Given the description of an element on the screen output the (x, y) to click on. 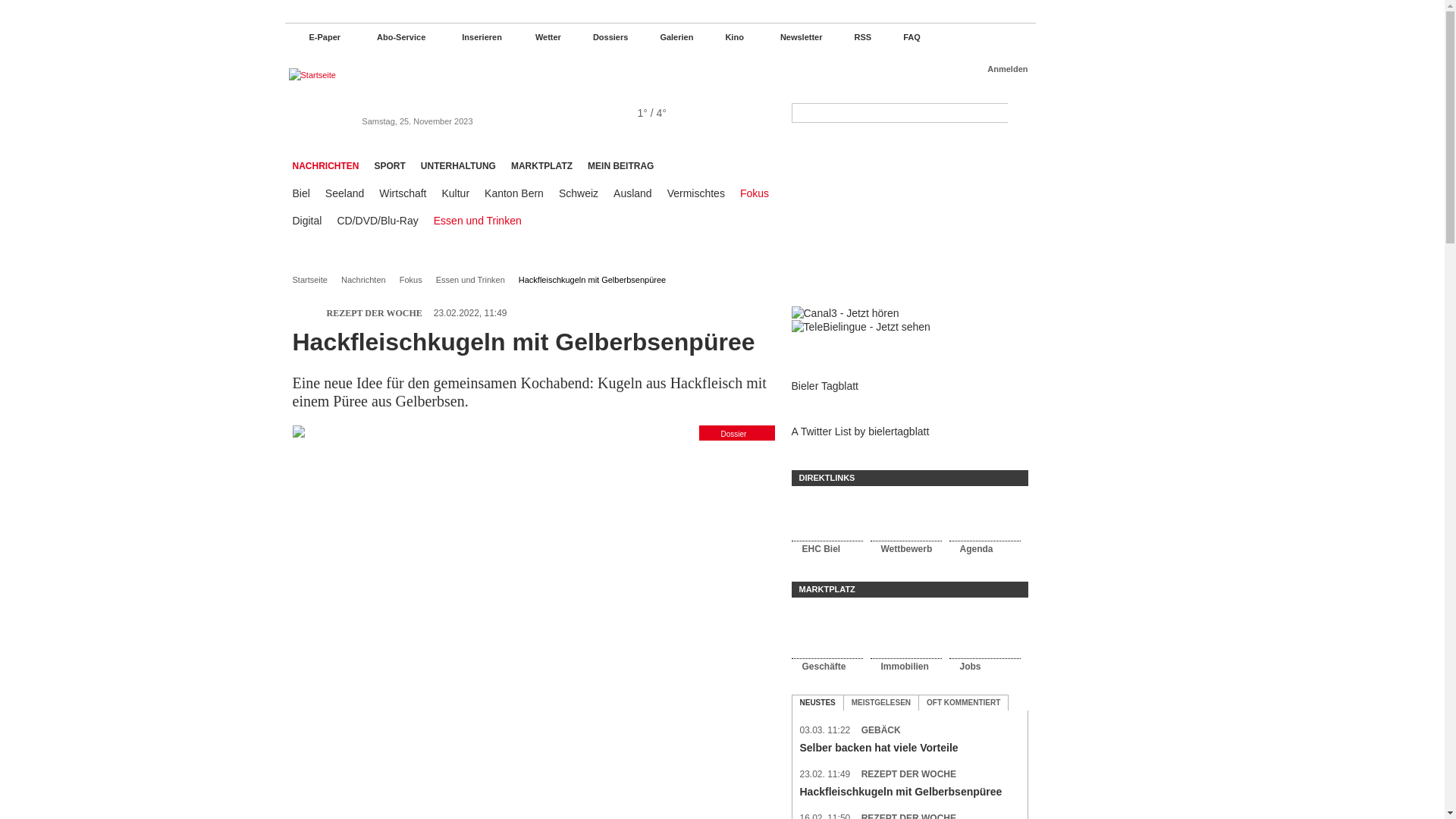
Dossiers Element type: text (601, 36)
Kanton Bern Element type: text (513, 193)
Immobilien Element type: text (905, 640)
Galerien Element type: text (668, 36)
Bieler Tagblatt Element type: text (824, 385)
CD/DVD/Blu-Ray Element type: text (376, 220)
SPORT Element type: text (389, 161)
Vermischtes Element type: text (695, 193)
Wirtschaft Element type: text (402, 193)
Inserieren Element type: text (471, 36)
Nachrichten Element type: text (368, 279)
Newsletter Element type: text (790, 36)
Seeland Element type: text (344, 193)
Startseite Element type: text (314, 279)
Ausland Element type: text (632, 193)
Essen und Trinken Element type: text (475, 279)
EHC Biel Element type: text (826, 524)
Direkt zum Inhalt Element type: text (43, 0)
NEUSTES Element type: text (816, 702)
Fokus Element type: text (415, 279)
Drucken Element type: text (745, 311)
MEISTGELESEN Element type: text (881, 702)
Kultur Element type: text (455, 193)
TeleBielingue - Jetzt sehen Element type: hover (860, 326)
Abo-Service Element type: text (390, 36)
RSS Element type: text (854, 36)
Suche Element type: text (1017, 112)
Biel Element type: text (301, 193)
Essen und Trinken Element type: text (477, 220)
E-Paper Element type: text (316, 36)
OFT KOMMENTIERT Element type: text (963, 702)
Jobs Element type: text (984, 640)
Startseite Element type: hover (410, 75)
Schweiz Element type: text (578, 193)
Digital Element type: text (307, 220)
Wettbewerb Element type: text (905, 524)
Agenda Element type: text (984, 524)
NACHRICHTEN Element type: text (325, 161)
Fokus Element type: text (754, 193)
Anmelden Element type: text (997, 69)
MEIN BEITRAG Element type: text (620, 161)
UNTERHALTUNG Element type: text (457, 161)
A Twitter List by bielertagblatt Element type: text (860, 431)
FAQ Element type: text (903, 36)
Wetter Element type: text (539, 36)
Kino Element type: text (725, 36)
MARKTPLATZ Element type: text (541, 161)
